Given the description of an element on the screen output the (x, y) to click on. 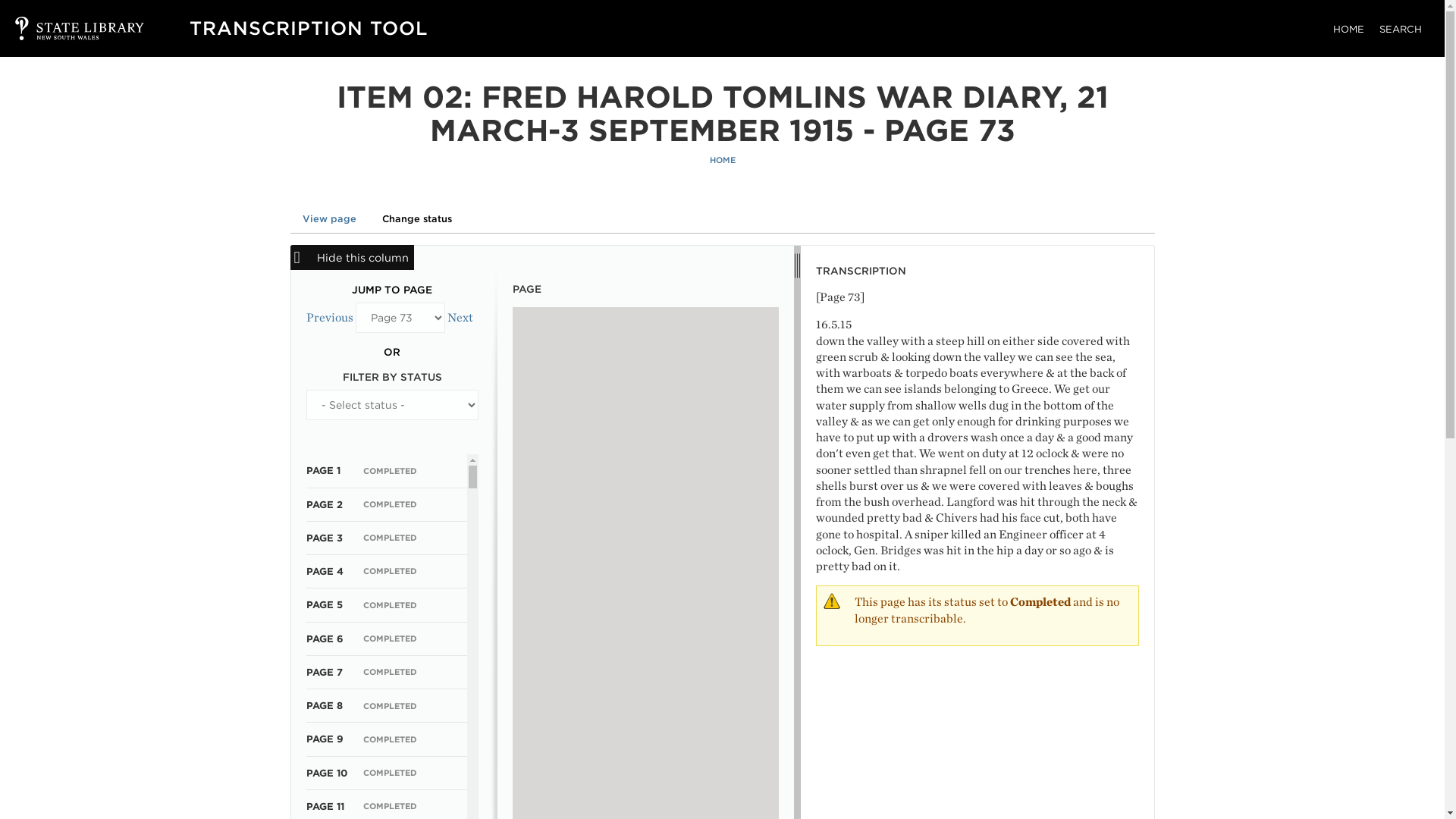
TRANSCRIPTION TOOL (308, 27)
PAGE 5 (323, 604)
HOME (1348, 29)
PAGE 1 (322, 470)
SEARCH (1400, 29)
State Library of NSW (64, 28)
PAGE 4 (324, 571)
PAGE 2 (323, 504)
PAGE 6 (324, 638)
Previous (329, 317)
PAGE 9 (324, 738)
HOME (722, 160)
PAGE 8 (323, 705)
PAGE 7 (323, 672)
View page (328, 218)
